Given the description of an element on the screen output the (x, y) to click on. 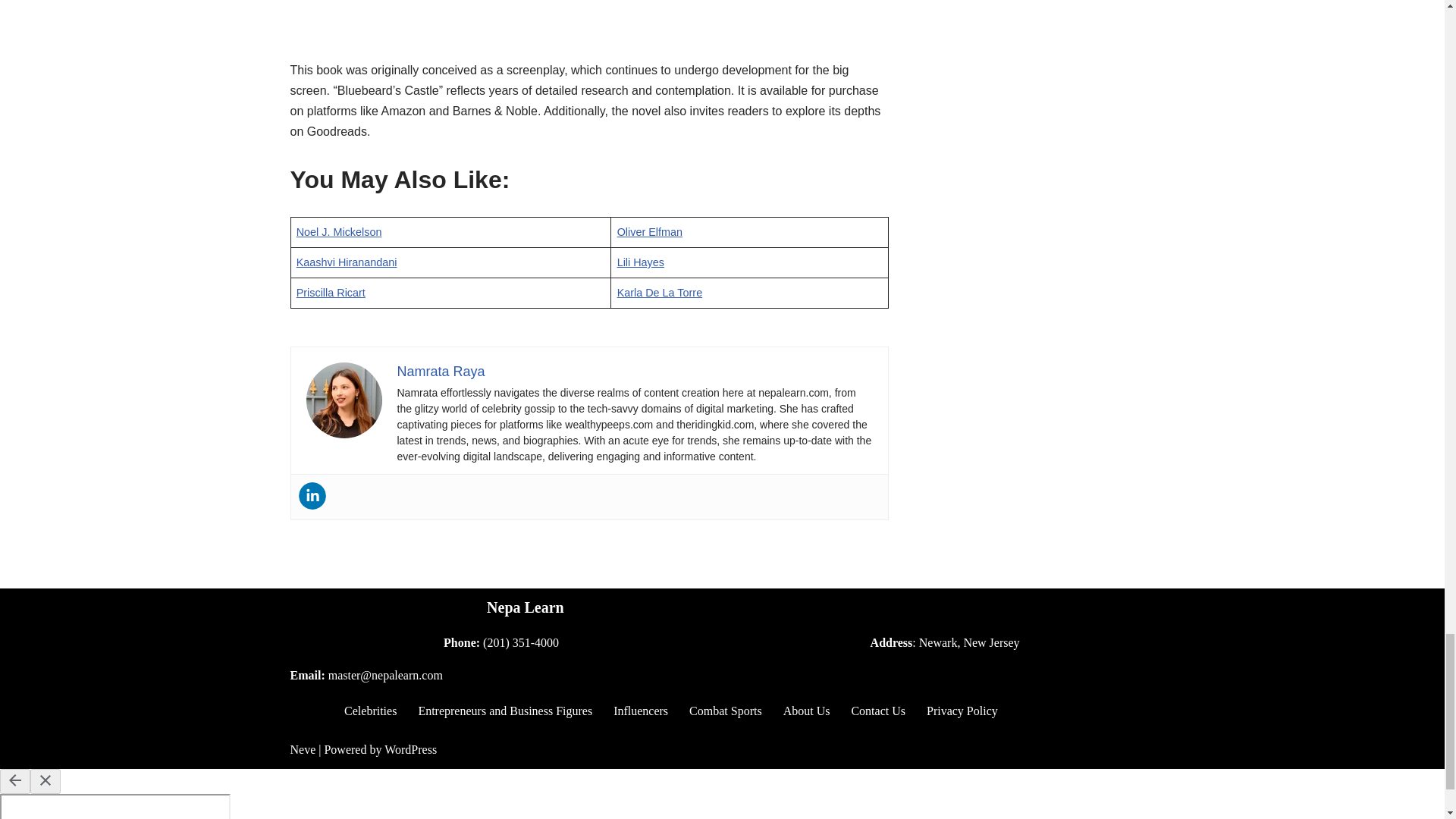
Neve (302, 748)
Noel J. Mickelson (339, 232)
Priscilla Ricart (331, 292)
Combat Sports (724, 711)
About Us (806, 711)
Entrepreneurs and Business Figures (504, 711)
Linkedin (312, 495)
Lili Hayes (640, 262)
Namrata Raya (440, 371)
Karla De La Torre (660, 292)
